Given the description of an element on the screen output the (x, y) to click on. 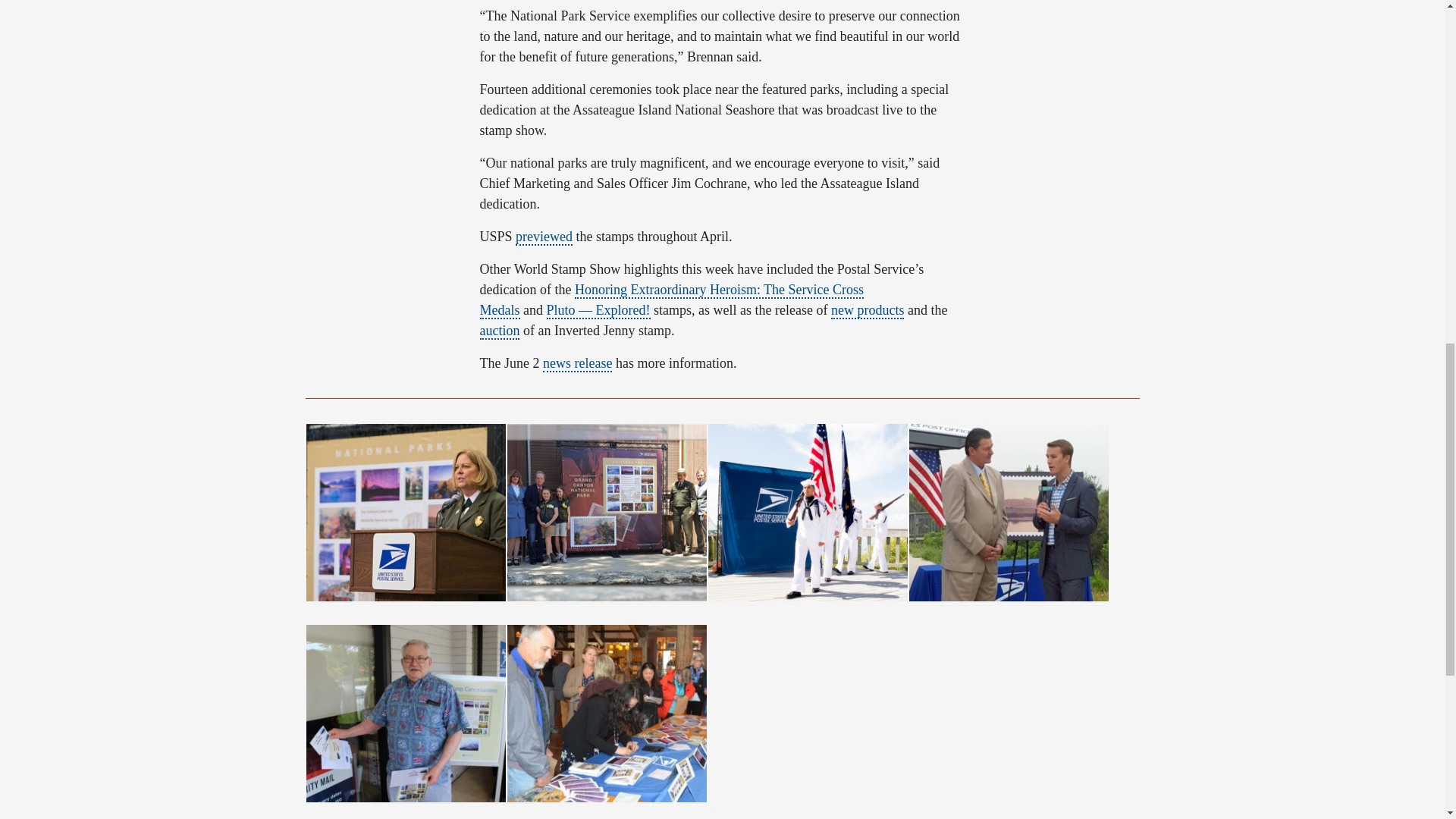
new products (867, 310)
auction (499, 330)
previewed (543, 237)
news release (577, 363)
Honoring Extraordinary Heroism: The Service Cross Medals (671, 300)
